Given the description of an element on the screen output the (x, y) to click on. 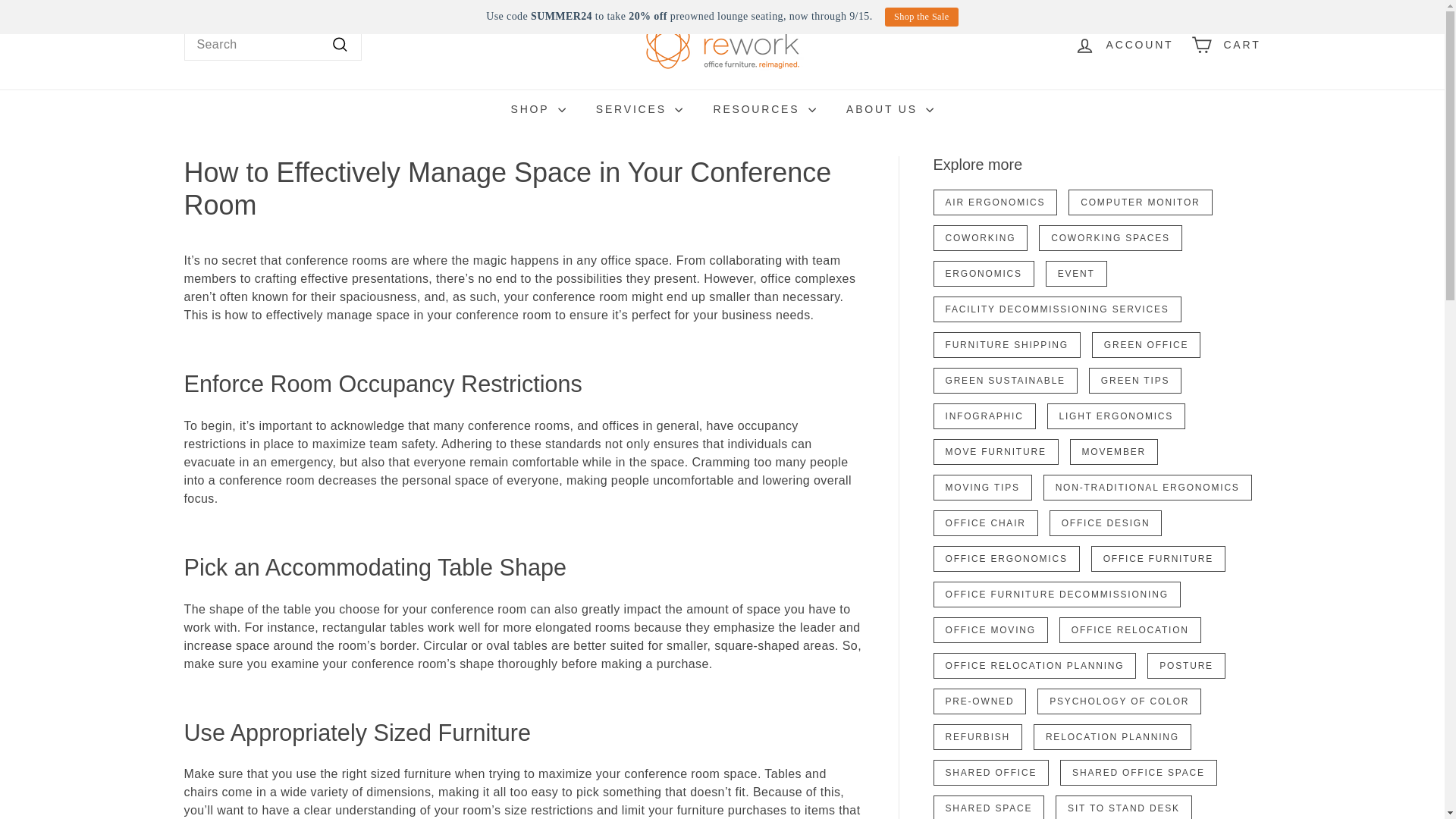
Shop the Sale (921, 16)
CART (1225, 44)
ACCOUNT (1123, 44)
